Given the description of an element on the screen output the (x, y) to click on. 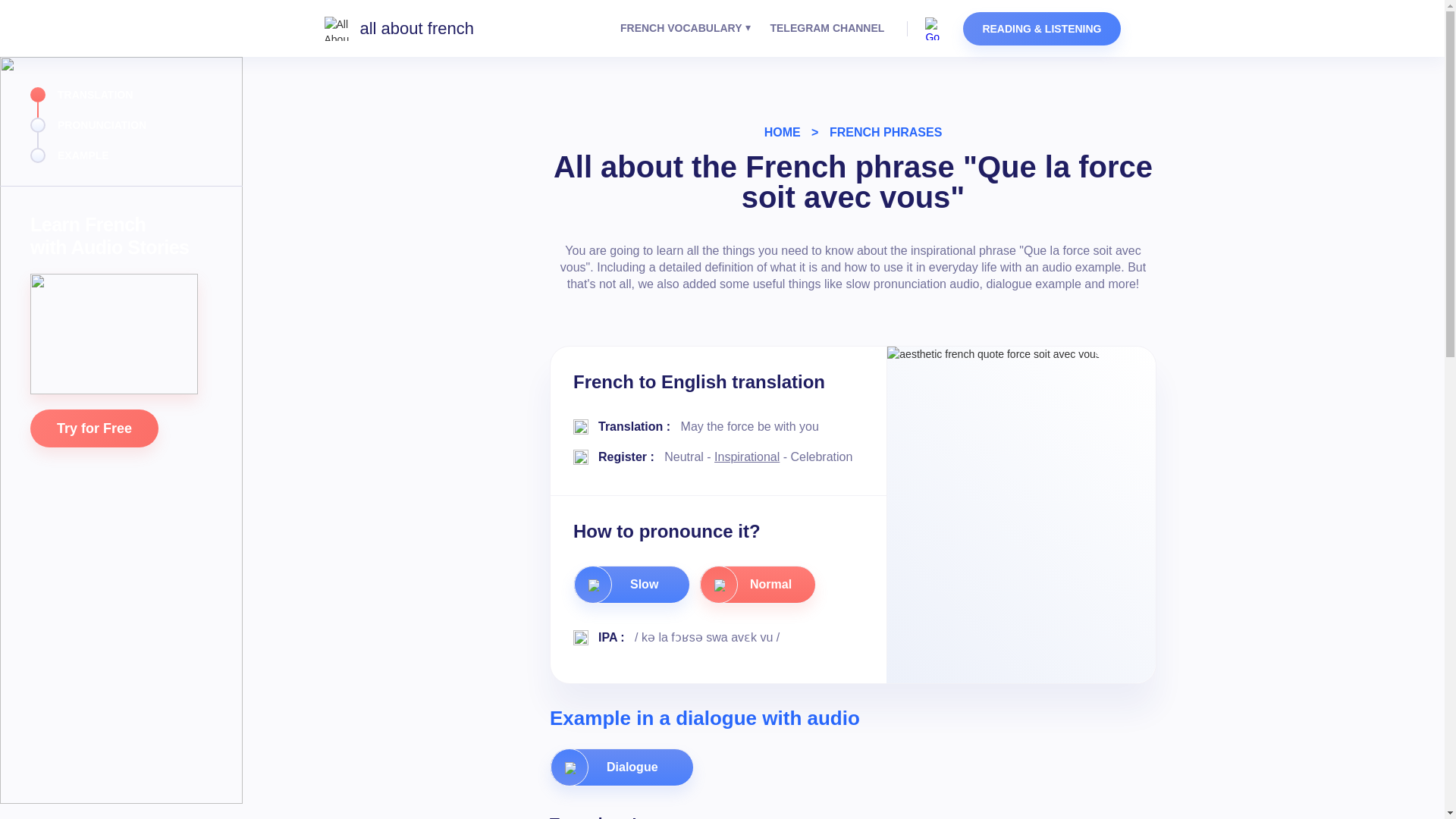
FRENCH PHRASES (885, 132)
TRANSLATION (102, 94)
TELEGRAM CHANNEL (826, 28)
EXAMPLE (102, 155)
Try for Free (94, 428)
Tenez bon (588, 816)
PRONUNCIATION (102, 124)
all about french (399, 28)
HOME (782, 132)
Inspirational (746, 456)
FRENCH VOCABULARY (676, 28)
